Given the description of an element on the screen output the (x, y) to click on. 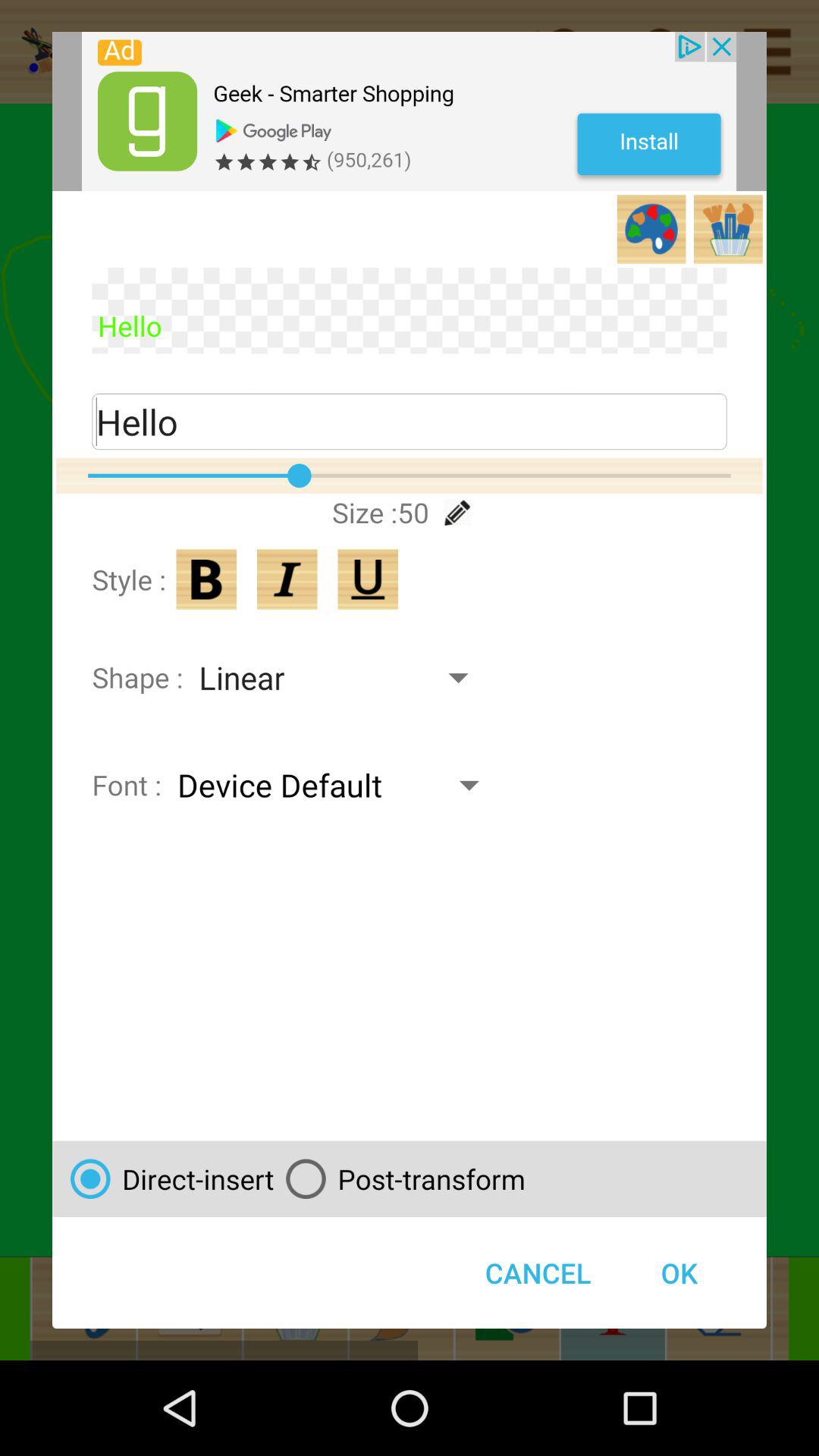
paintastic draw color paint (287, 579)
